Given the description of an element on the screen output the (x, y) to click on. 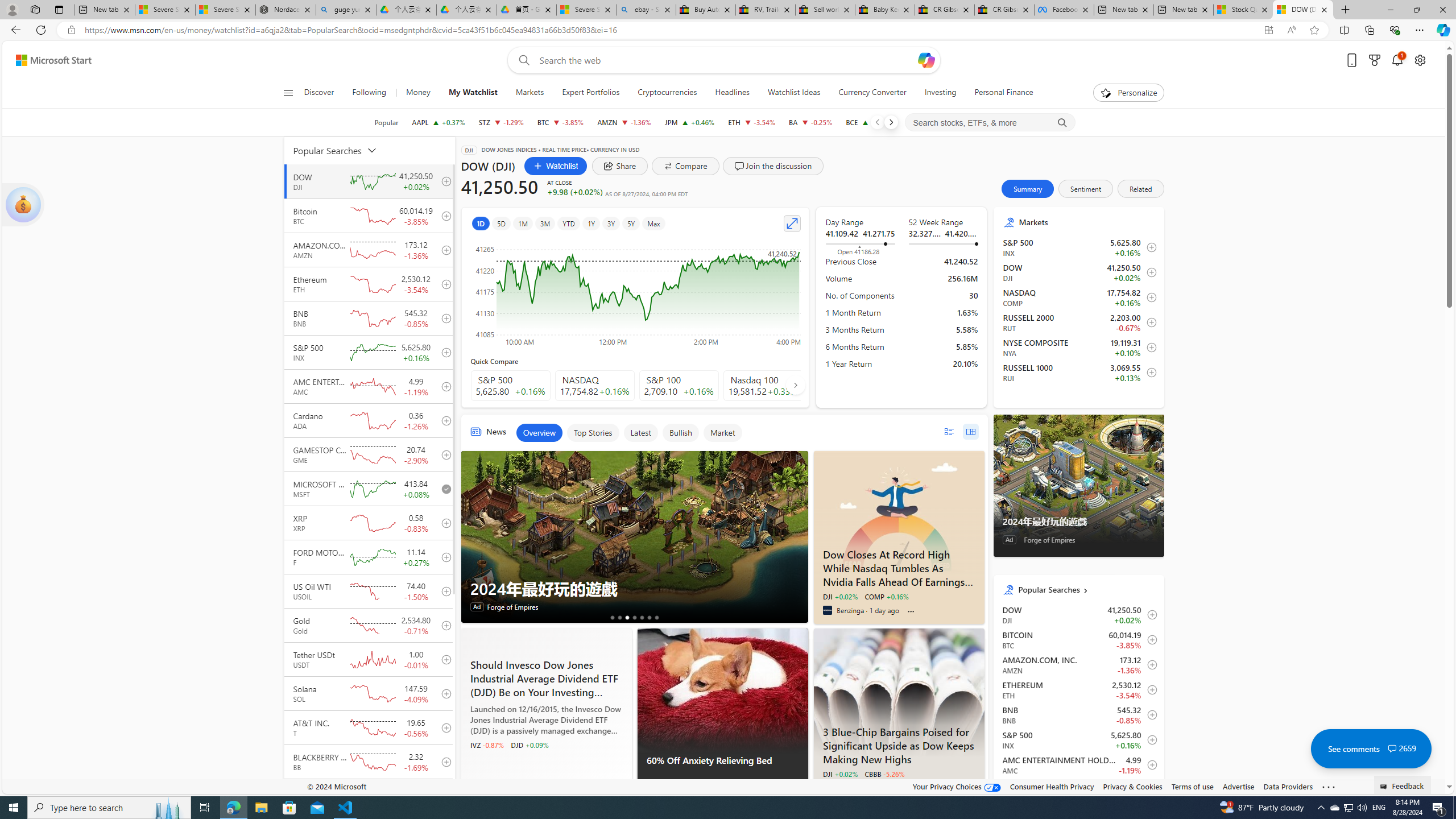
Benzinga (826, 610)
60% Off Anxiety Relieving Bed (722, 766)
Sentiment (1085, 188)
Investing (940, 92)
Class: oneFooter_seeMore-DS-EntryPoint1-1 (1328, 786)
DJI +0.02% (839, 773)
Consumer Health Privacy (1051, 786)
Headlines (731, 92)
show card (22, 204)
BNB BNB decrease 545.32 -4.62 -0.85% itemundefined (1078, 714)
